Given the description of an element on the screen output the (x, y) to click on. 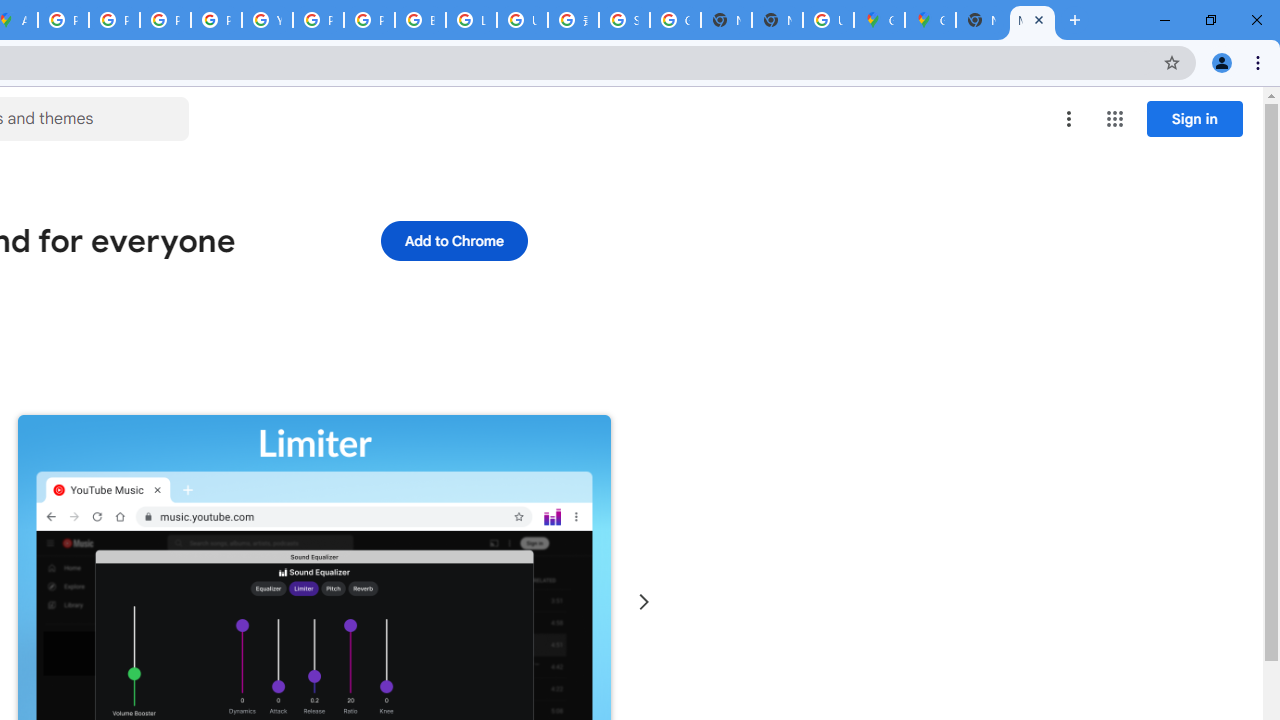
Sign in - Google Accounts (624, 20)
